Given the description of an element on the screen output the (x, y) to click on. 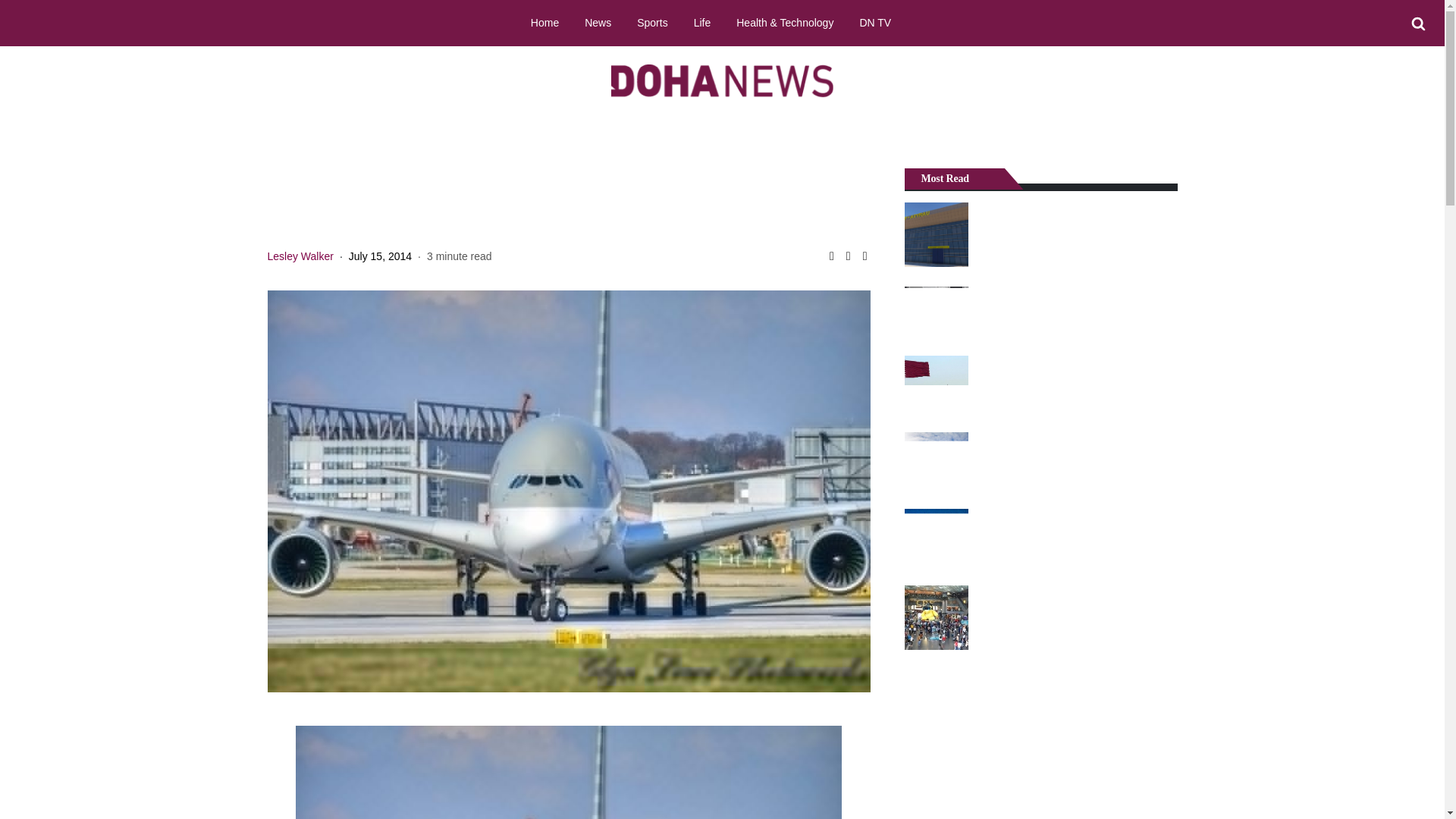
Life (702, 22)
Sports (651, 22)
July 15, 2014 (380, 256)
DN TV (875, 22)
View all posts by Lesley Walker (299, 256)
Search (1417, 23)
Home (545, 22)
News (598, 22)
Lesley Walker (299, 256)
